Given the description of an element on the screen output the (x, y) to click on. 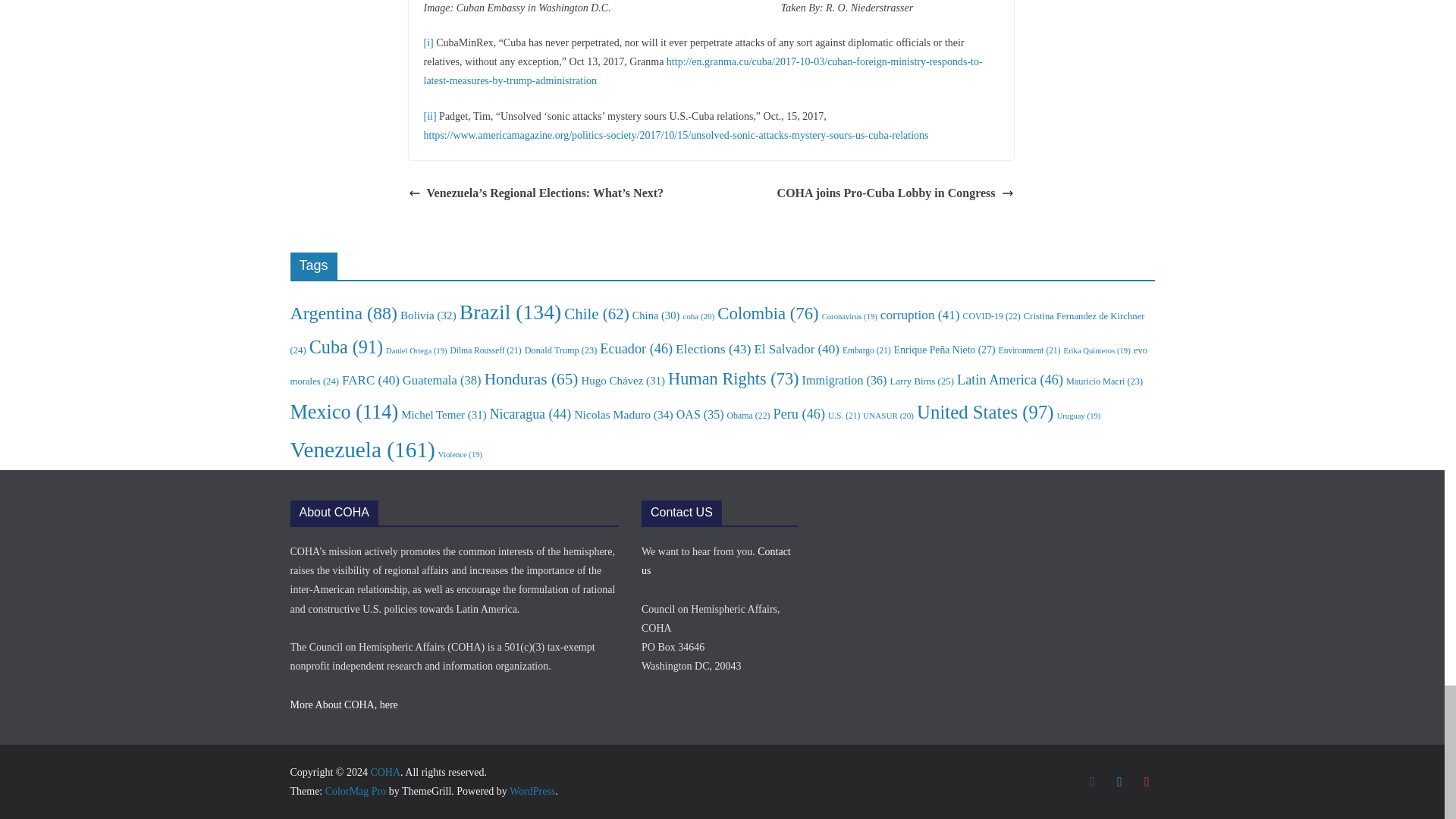
ColorMag Pro (355, 790)
COHA (384, 772)
WordPress (531, 790)
